Given the description of an element on the screen output the (x, y) to click on. 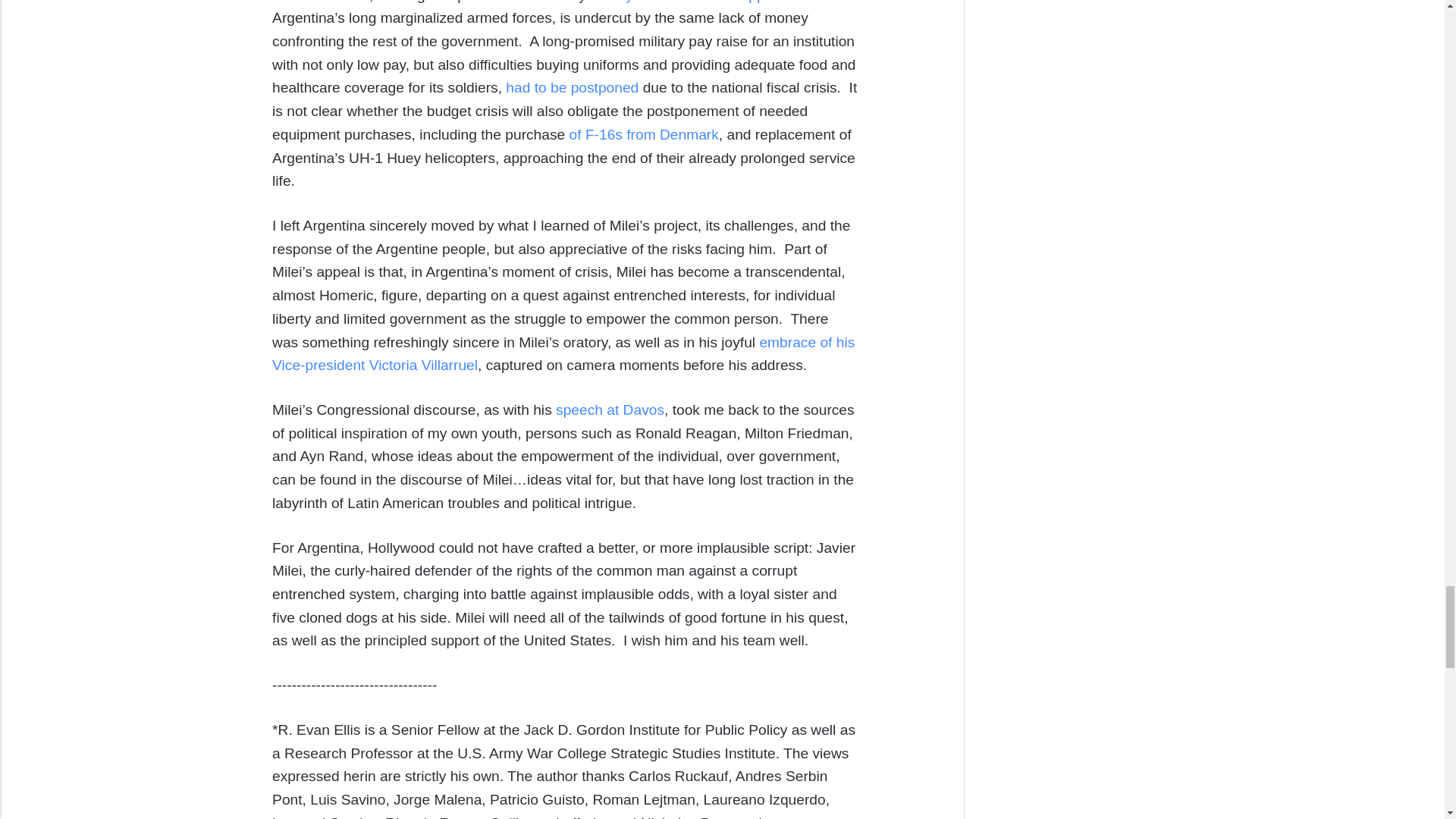
had to be postponed (572, 87)
symbolic show of support (699, 1)
